Given the description of an element on the screen output the (x, y) to click on. 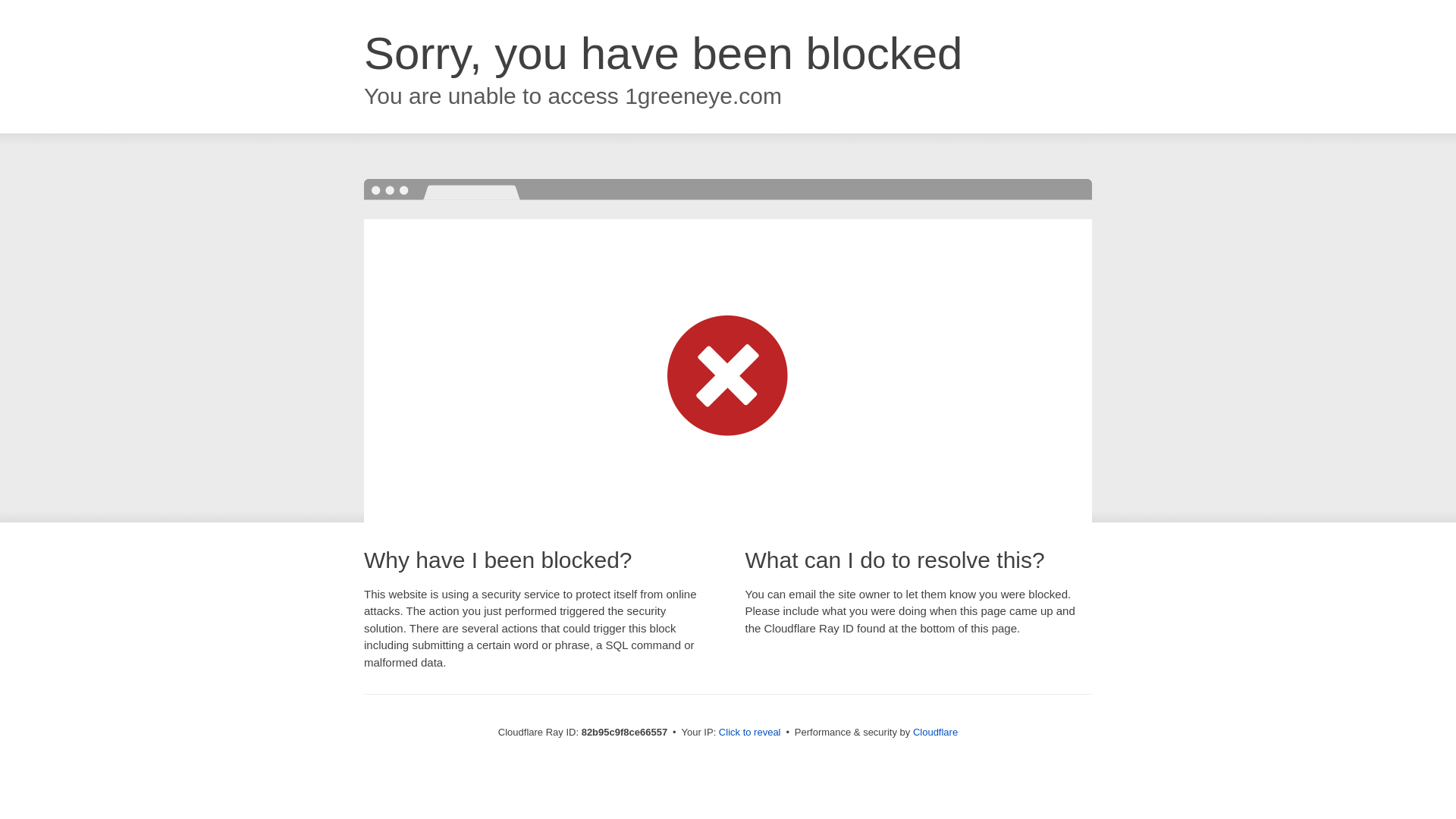
Cloudflare Element type: text (935, 731)
Click to reveal Element type: text (749, 732)
